Given the description of an element on the screen output the (x, y) to click on. 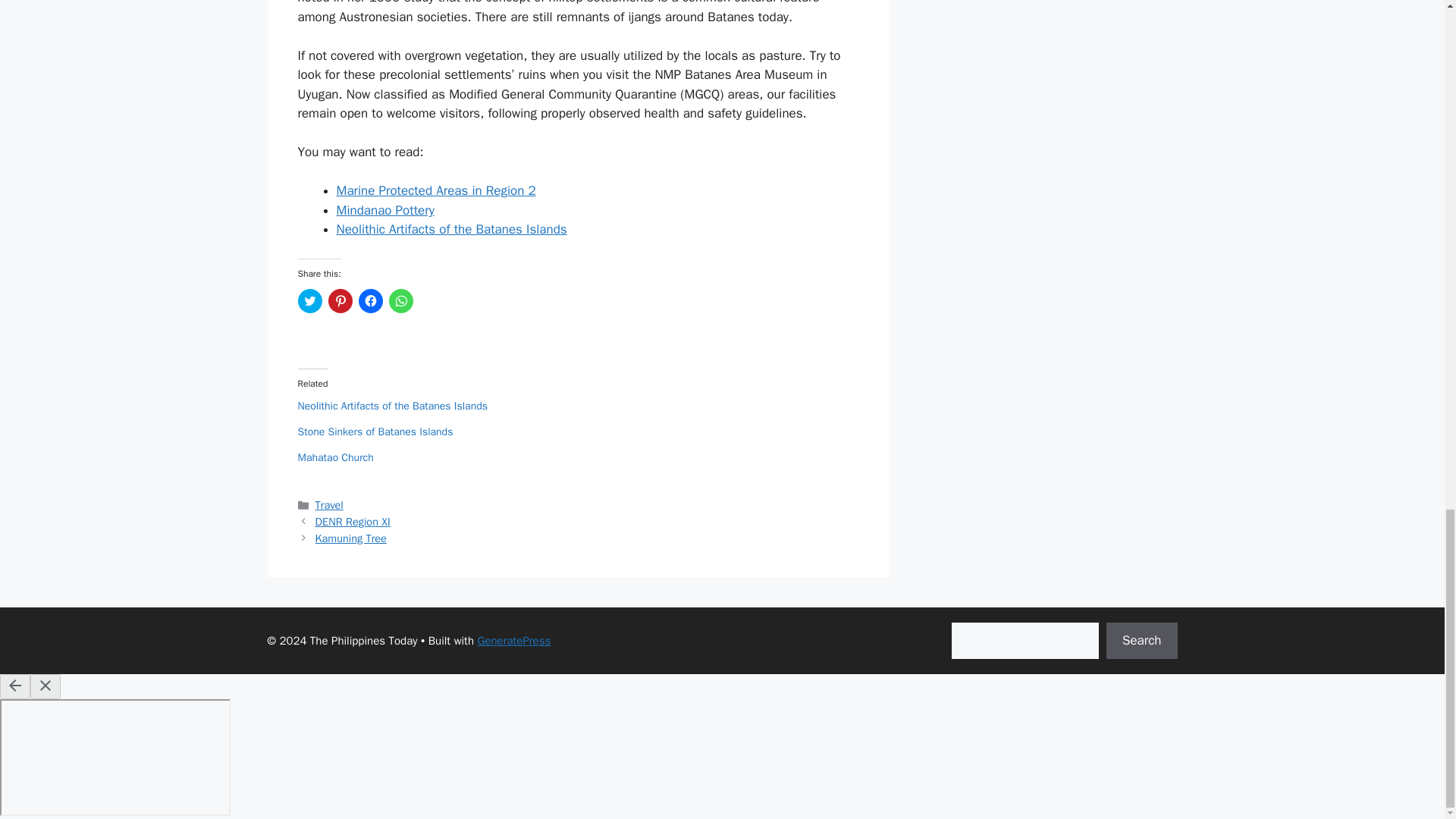
Mindanao Pottery (384, 210)
Click to share on Twitter (309, 300)
Mahatao Church (334, 457)
Click to share on WhatsApp (400, 300)
Stone Sinkers of Batanes Islands (374, 431)
Stone Sinkers of Batanes Islands (374, 431)
Click to share on Pinterest (339, 300)
DENR Region XI (352, 521)
Mahatao Church (334, 457)
Kamuning Tree (351, 538)
